Given the description of an element on the screen output the (x, y) to click on. 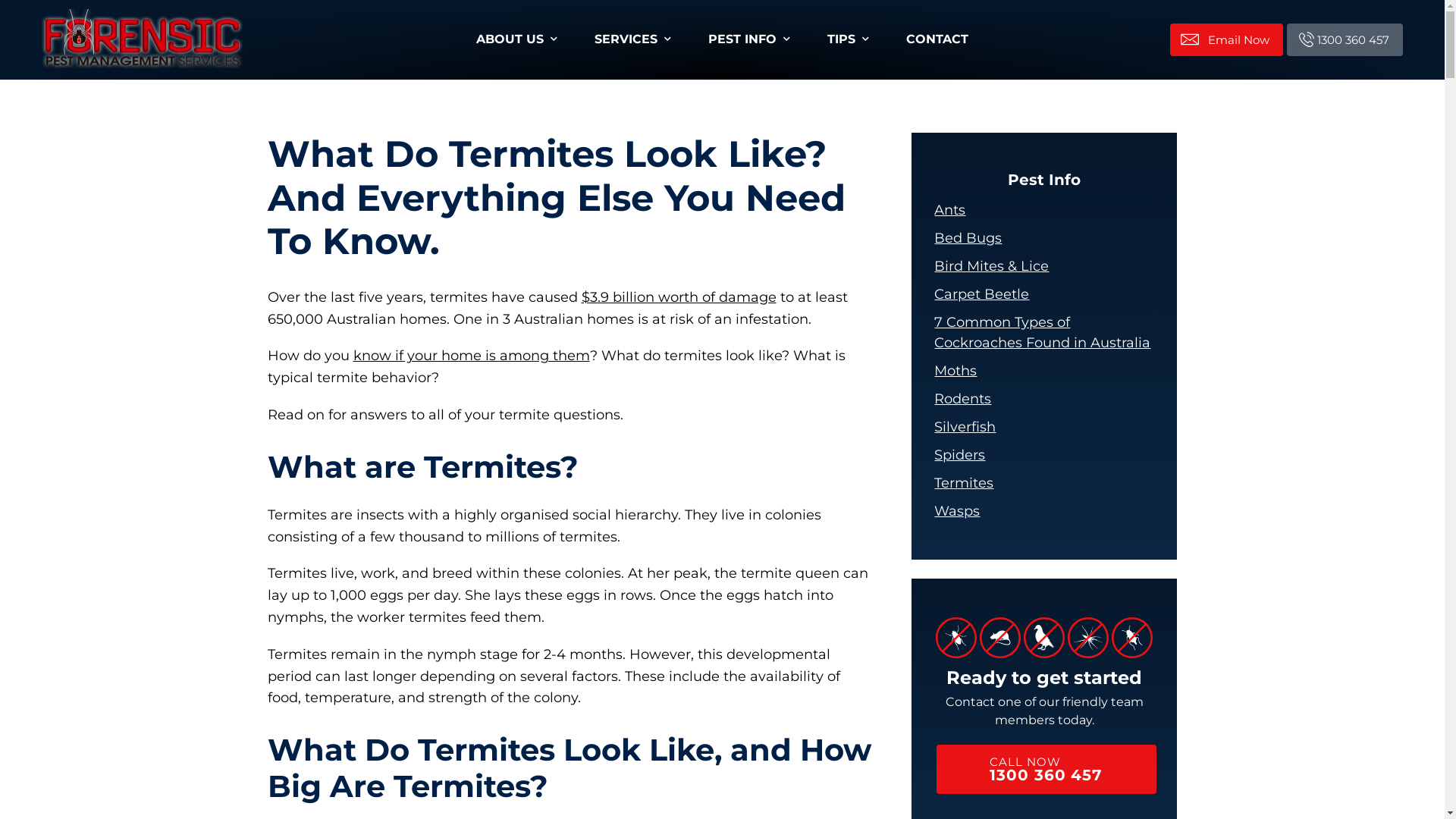
CONTACT Element type: text (937, 39)
TIPS Element type: text (846, 39)
1300 360 457 Element type: text (1344, 38)
Bed Bugs Element type: text (967, 238)
Wasps Element type: text (956, 511)
Spiders Element type: text (959, 455)
know if your home is among them Element type: text (471, 356)
7 Common Types of Cockroaches Found in Australia Element type: text (1044, 332)
Ants Element type: text (949, 210)
Email Now Element type: text (1226, 38)
PEST INFO Element type: text (747, 39)
CALL NOW
1300 360 457 Element type: text (1046, 768)
$3.9 billion worth of damage Element type: text (677, 297)
Rodents Element type: text (962, 399)
Termites Element type: text (963, 483)
Carpet Beetle Element type: text (981, 294)
Silverfish Element type: text (964, 427)
ABOUT US Element type: text (515, 39)
Bird Mites & Lice Element type: text (991, 266)
SERVICES Element type: text (631, 39)
Moths Element type: text (955, 370)
